Given the description of an element on the screen output the (x, y) to click on. 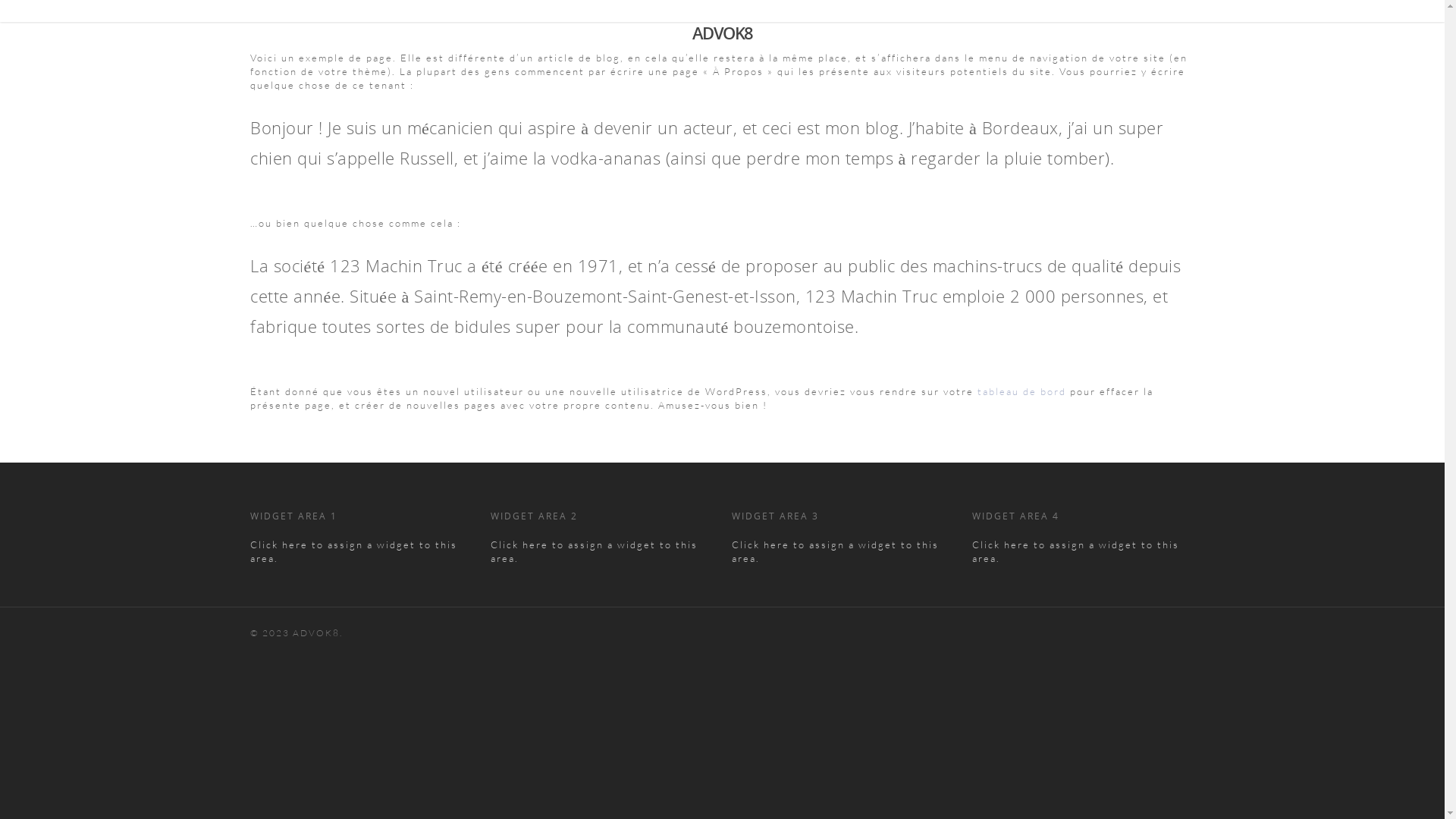
Click here to assign a widget to this area. Element type: text (834, 551)
Click here to assign a widget to this area. Element type: text (593, 551)
Click here to assign a widget to this area. Element type: text (353, 551)
ADVOK8 Element type: text (721, 32)
tableau de bord Element type: text (1021, 391)
Click here to assign a widget to this area. Element type: text (1075, 551)
